Given the description of an element on the screen output the (x, y) to click on. 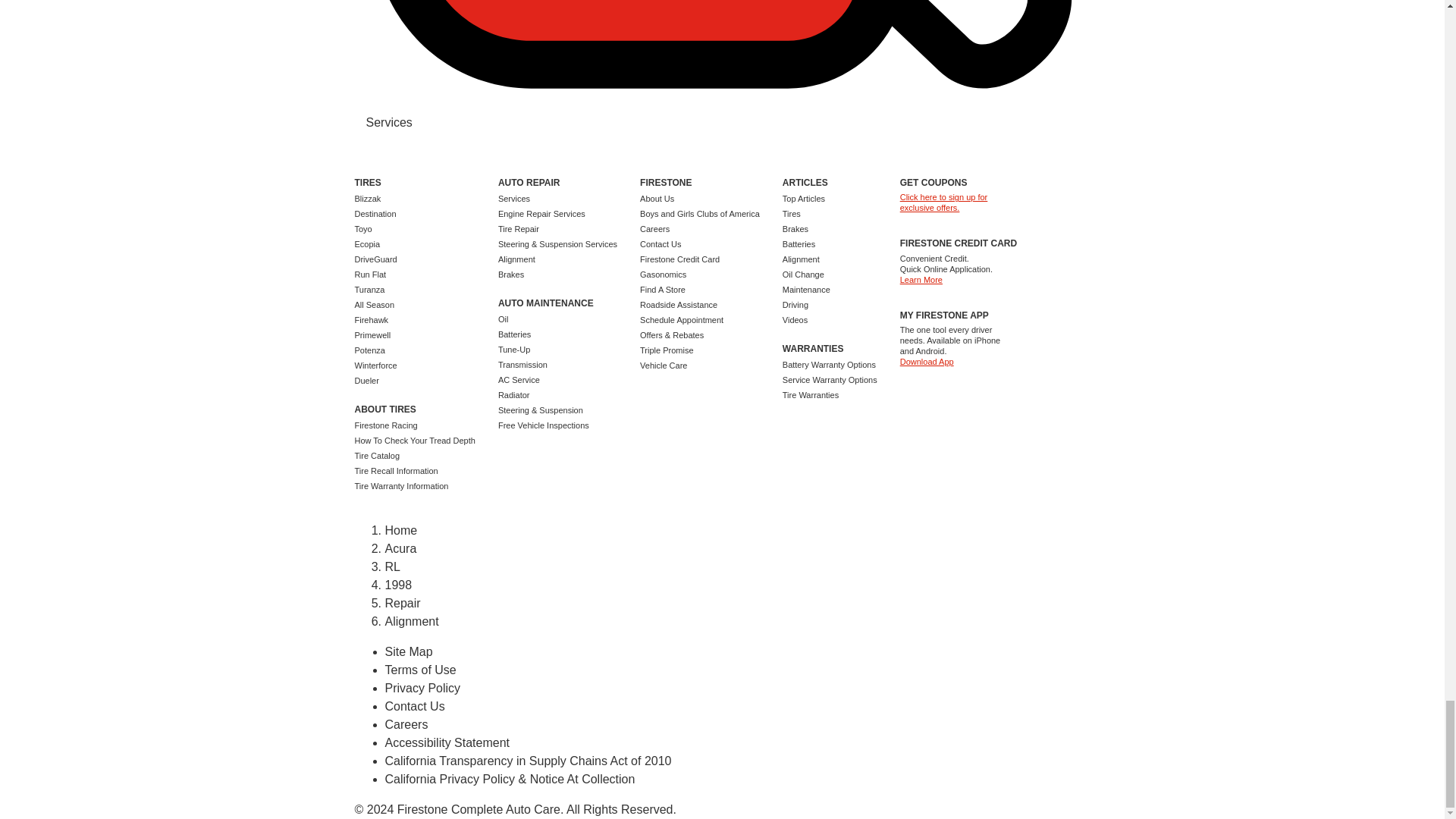
Toyo (363, 228)
Services (388, 122)
Firestone Racing (386, 424)
All Season (374, 304)
Tire Warranty Information (401, 485)
Turanza (370, 289)
Winterforce (376, 365)
Ecopia (367, 243)
Tire Recall Information (396, 470)
Tire Catalog (377, 455)
